Given the description of an element on the screen output the (x, y) to click on. 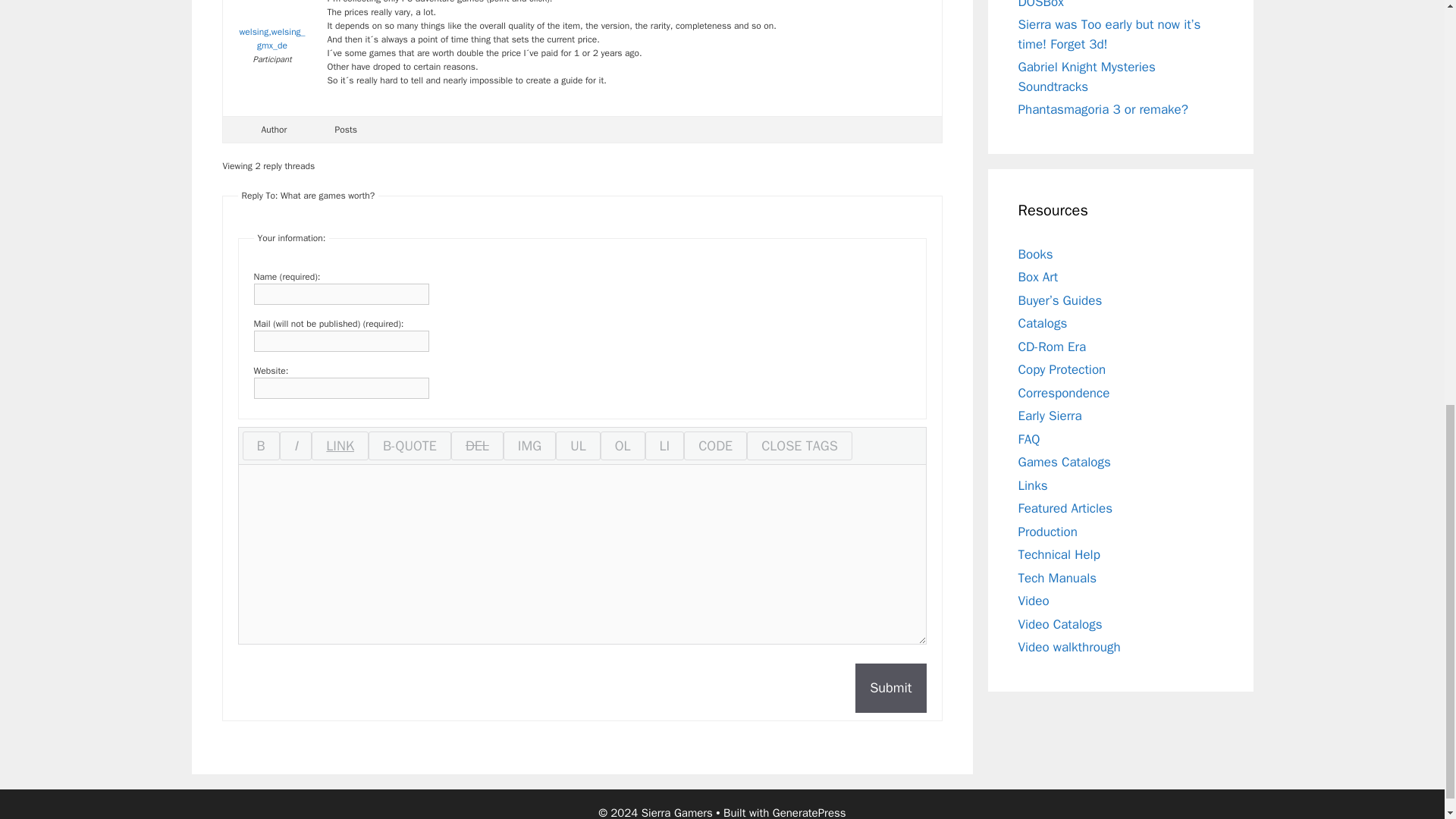
Close all open tags (798, 445)
li (664, 445)
ol (622, 445)
link (339, 445)
ul (577, 445)
b (261, 445)
del (477, 445)
i (296, 445)
code (715, 445)
close tags (798, 445)
img (529, 445)
b-quote (409, 445)
